Given the description of an element on the screen output the (x, y) to click on. 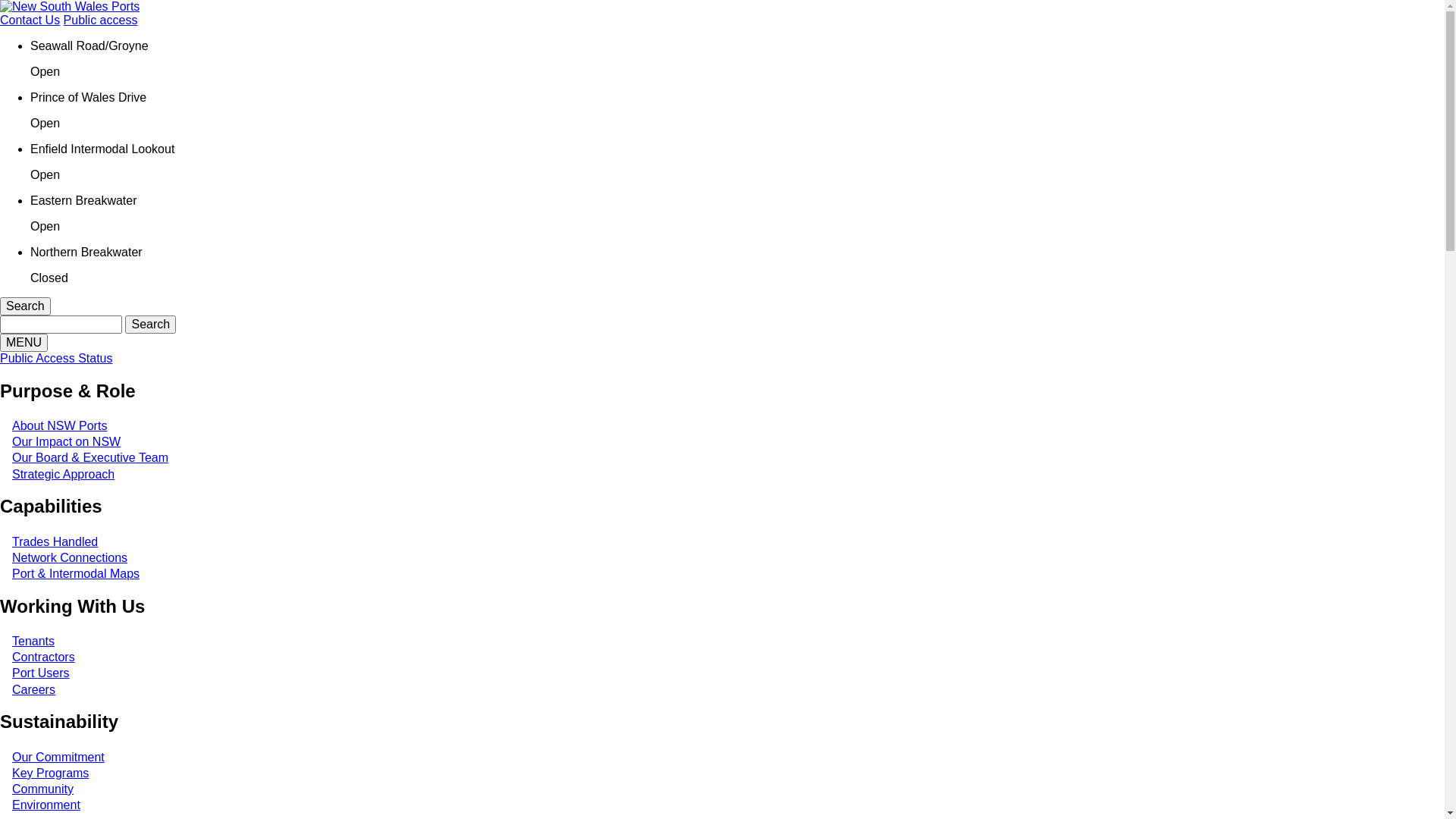
Skip to main content Element type: text (0, 0)
Environment Element type: text (46, 804)
Port & Intermodal Maps Element type: text (75, 573)
Tenants Element type: text (33, 640)
Trades Handled Element type: text (54, 541)
Contractors Element type: text (43, 656)
Search Element type: text (150, 324)
Careers Element type: text (33, 688)
Network Connections Element type: text (69, 557)
Port Users Element type: text (40, 672)
Enter the terms you wish to search for. Element type: hover (61, 324)
Key Programs Element type: text (50, 772)
Our Impact on NSW Element type: text (66, 441)
MENU Element type: text (23, 342)
Search Element type: text (25, 306)
About NSW Ports Element type: text (59, 425)
Strategic Approach Element type: text (63, 473)
Public access Element type: text (100, 19)
Contact Us Element type: text (29, 19)
Our Commitment Element type: text (58, 756)
Public Access Status Element type: text (56, 357)
Community Element type: text (42, 788)
Our Board & Executive Team Element type: text (90, 457)
